Given the description of an element on the screen output the (x, y) to click on. 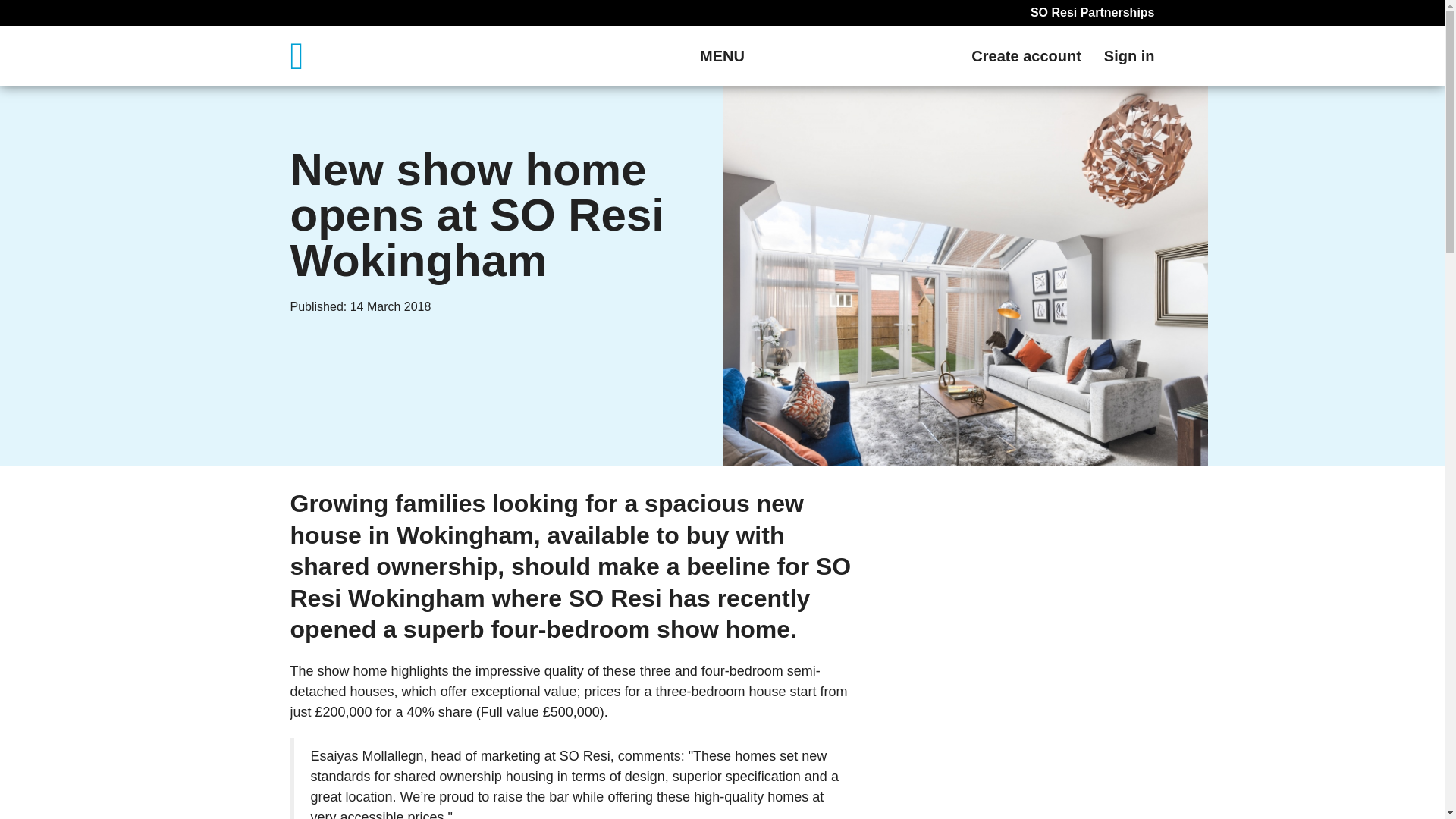
SO Resi Partnerships (1092, 11)
Sign in (1128, 56)
SO Resi Partnerships (1092, 11)
Create account (1026, 56)
MENU (722, 55)
